Given the description of an element on the screen output the (x, y) to click on. 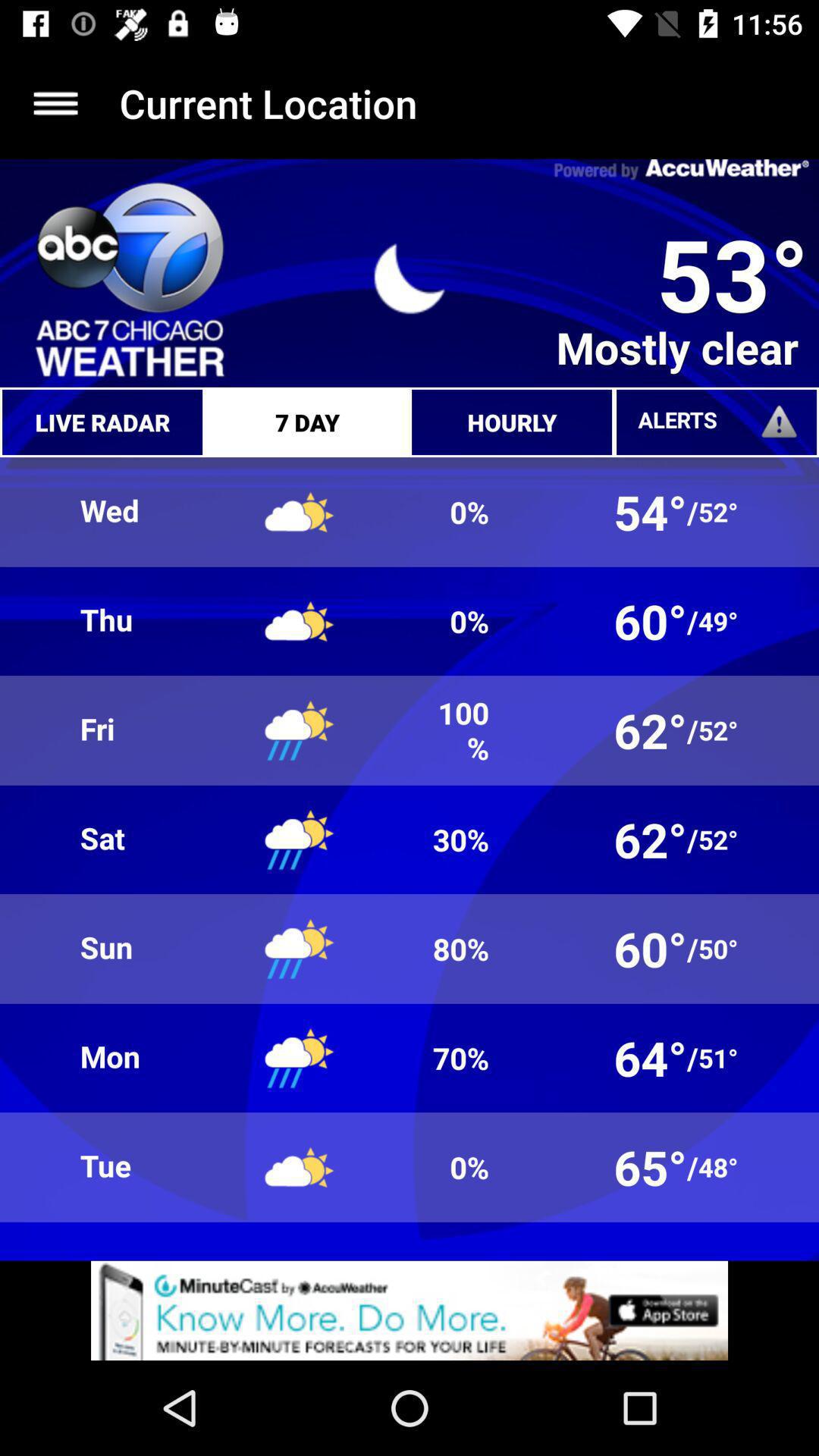
advertisement (409, 1310)
